Given the description of an element on the screen output the (x, y) to click on. 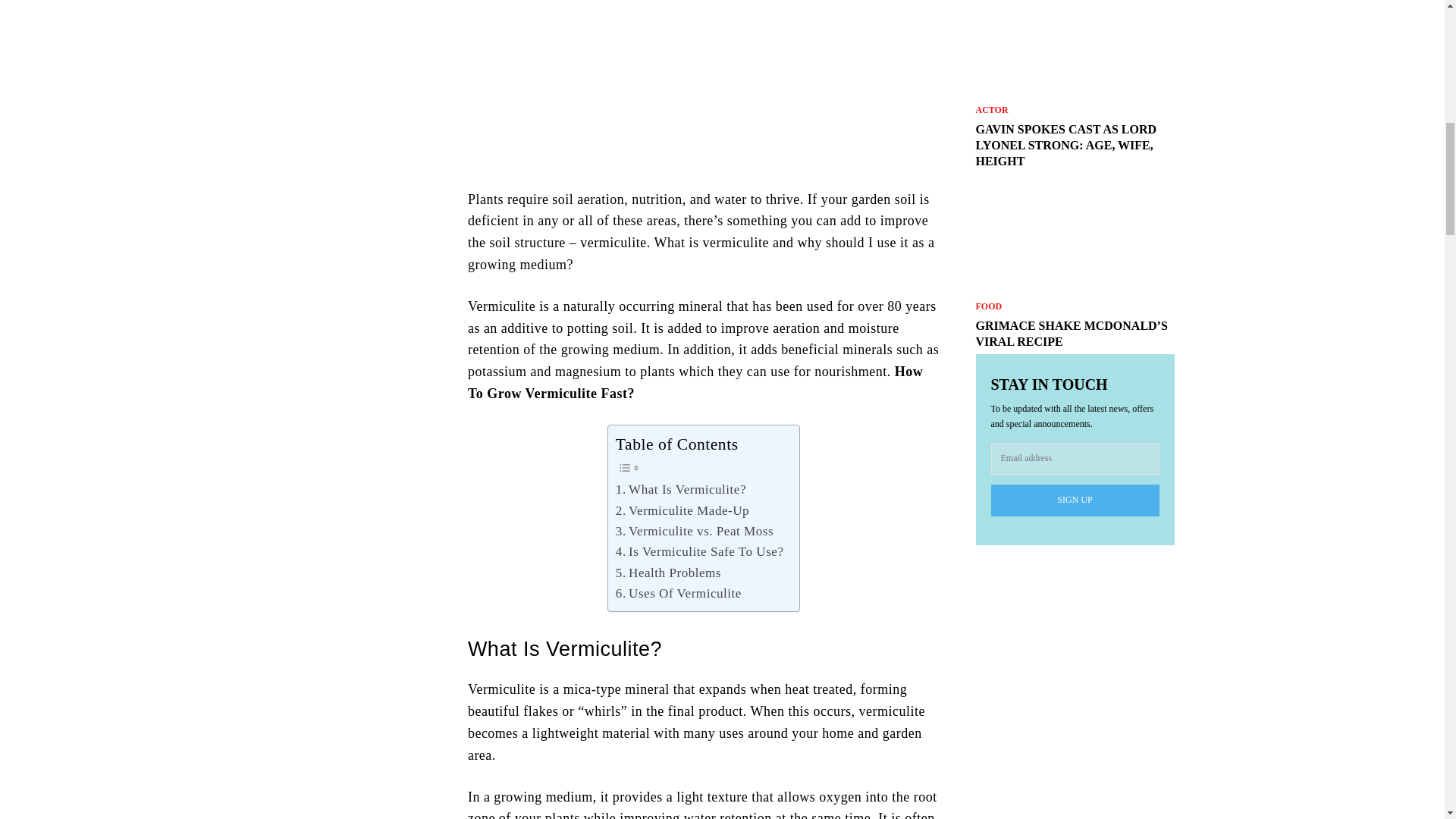
What Is Vermiculite? (680, 489)
Is Vermiculite Safe To Use? (699, 551)
Vermiculite vs. Peat Moss (694, 530)
Health Problems (667, 572)
Vermiculite Made-Up (682, 510)
Uses Of Vermiculite (678, 593)
